Given the description of an element on the screen output the (x, y) to click on. 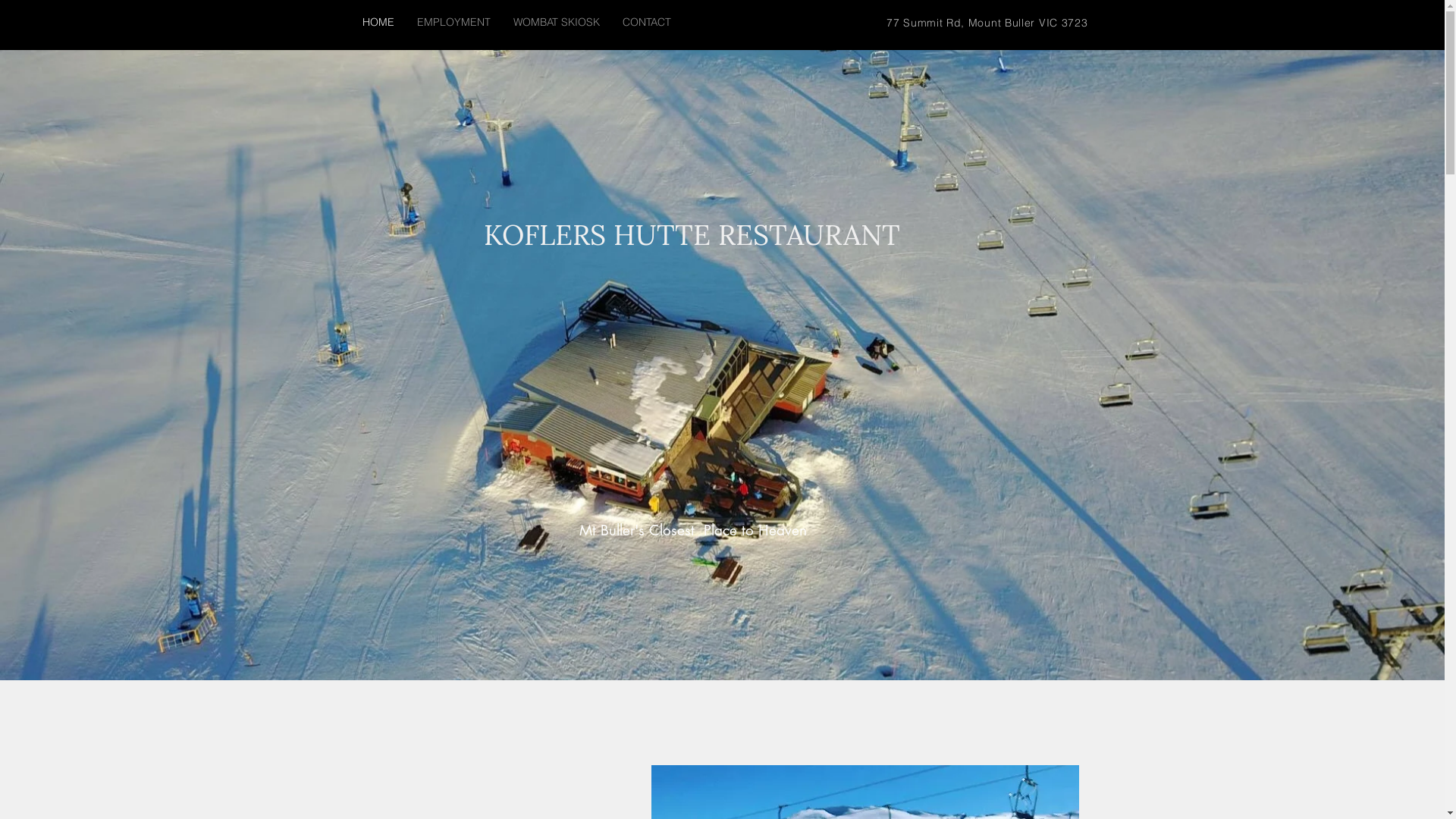
HOME Element type: text (377, 22)
EMPLOYMENT Element type: text (452, 22)
WOMBAT SKIOSK Element type: text (556, 22)
CONTACT Element type: text (646, 22)
